Given the description of an element on the screen output the (x, y) to click on. 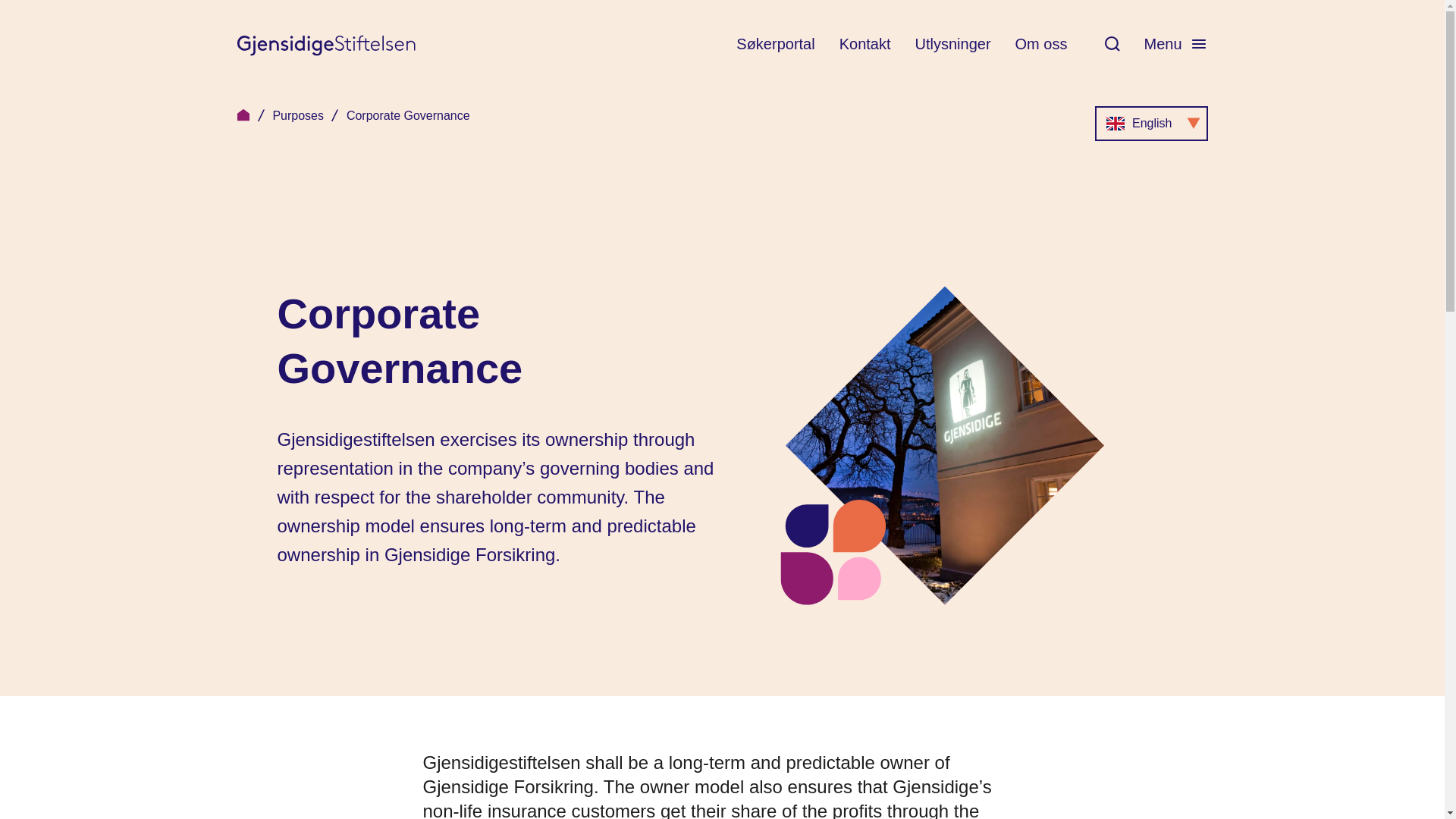
Gjensidige Stiftelsen (260, 115)
Utlysninger (953, 43)
Kontakt (865, 43)
Purposes (297, 115)
Gjensidige Stiftelsen (334, 115)
Search (1112, 44)
English (1150, 123)
Gjensidige Stiftelsen (351, 115)
Skip to content (16, 6)
Gjensidige Stiftelsen (241, 115)
Gjensidigestiftelsen (324, 43)
Om oss (1175, 43)
Gjensidige Stiftelsen (1040, 43)
Gjensidige Stiftelsen (408, 115)
